Given the description of an element on the screen output the (x, y) to click on. 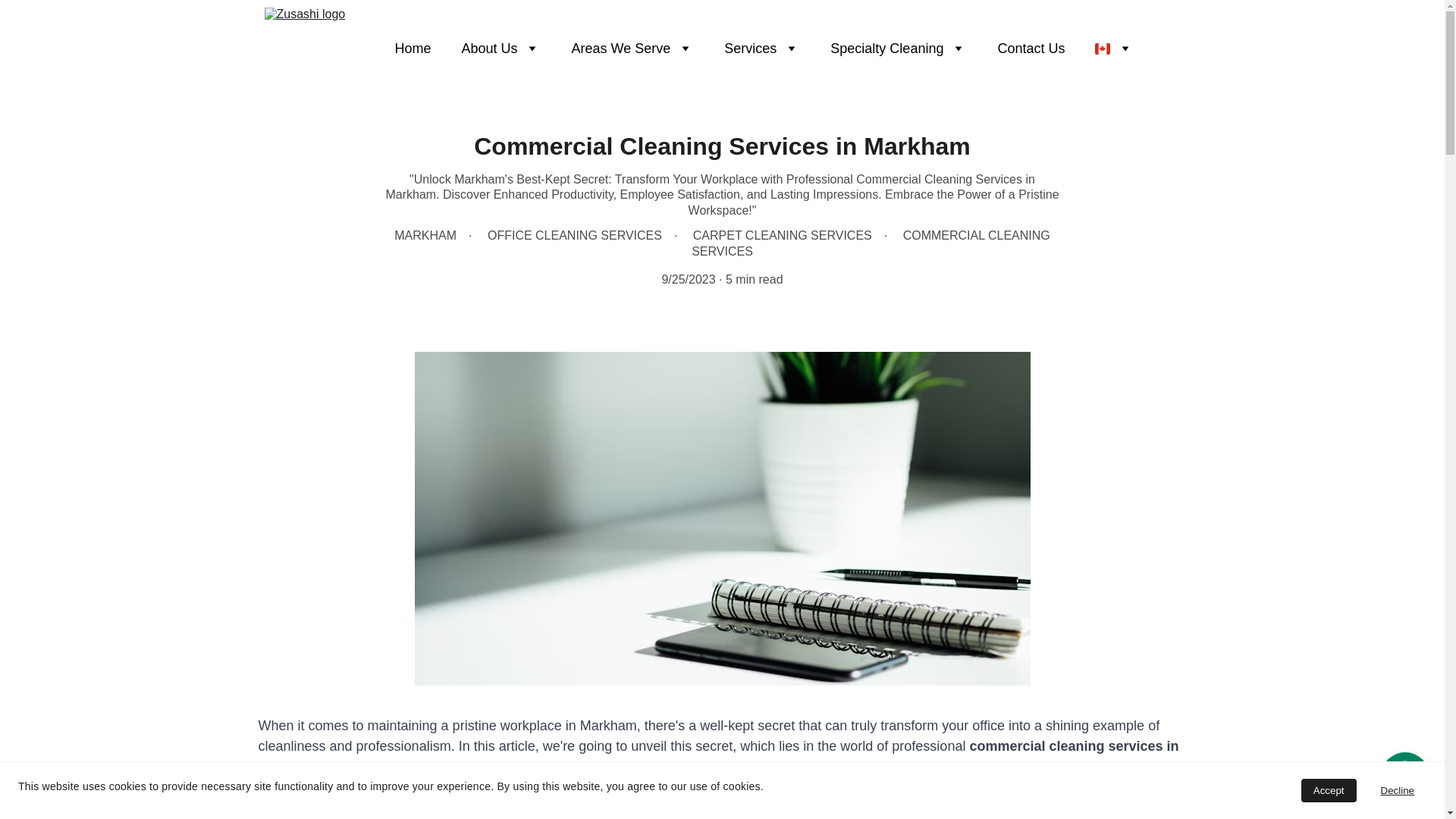
Contact Us (1030, 47)
Home (412, 47)
About Us (489, 47)
Services (749, 47)
Areas We Serve (621, 47)
Open WhatsApp (1404, 776)
